Given the description of an element on the screen output the (x, y) to click on. 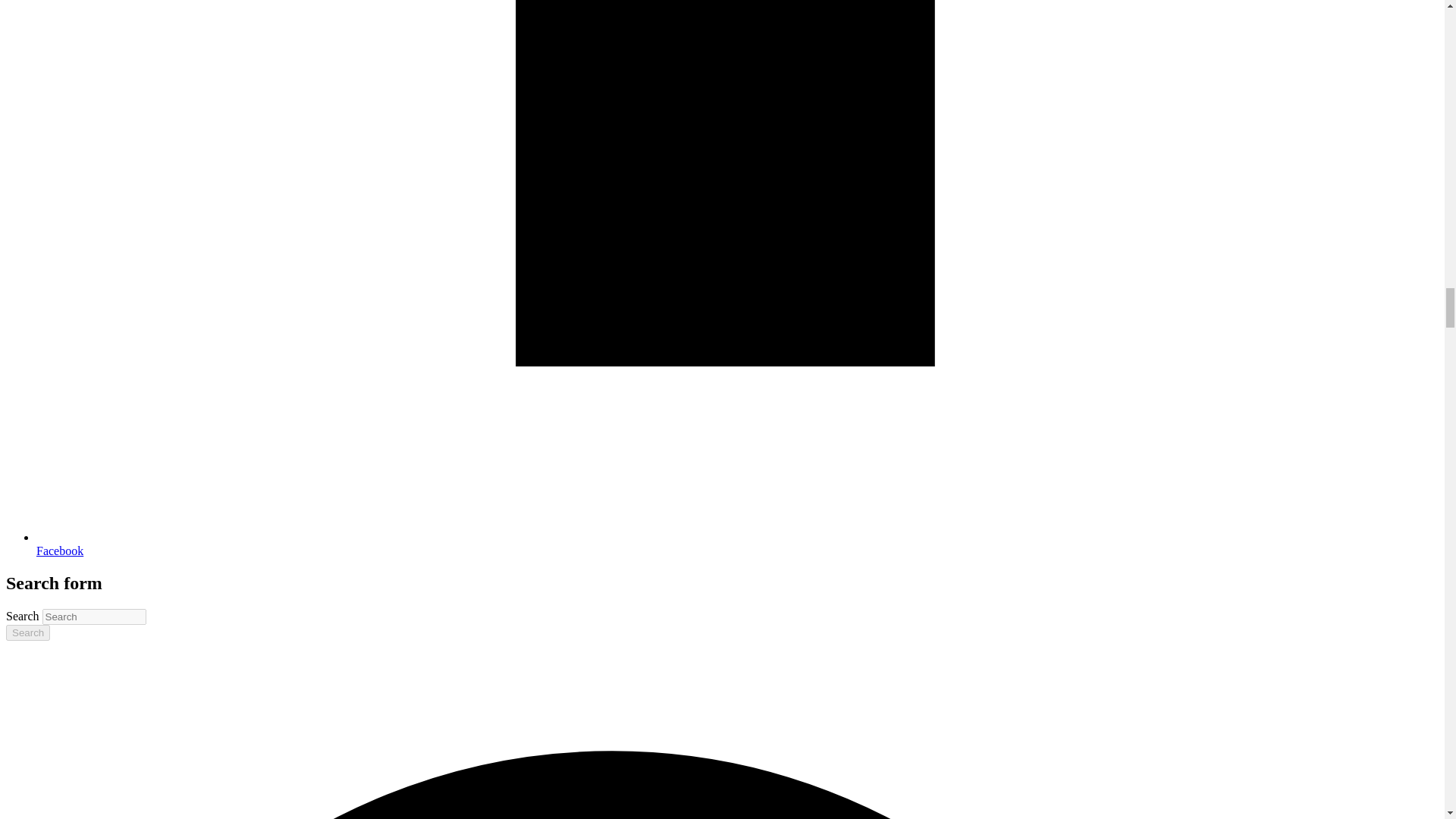
Enter the terms you wish to search for. (94, 616)
Search (27, 632)
